Given the description of an element on the screen output the (x, y) to click on. 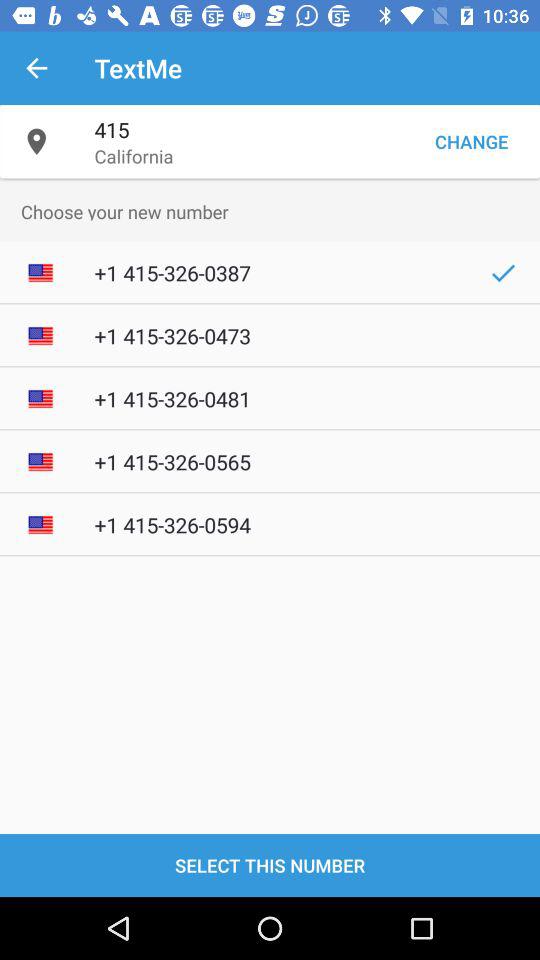
launch item next to textme app (36, 68)
